Given the description of an element on the screen output the (x, y) to click on. 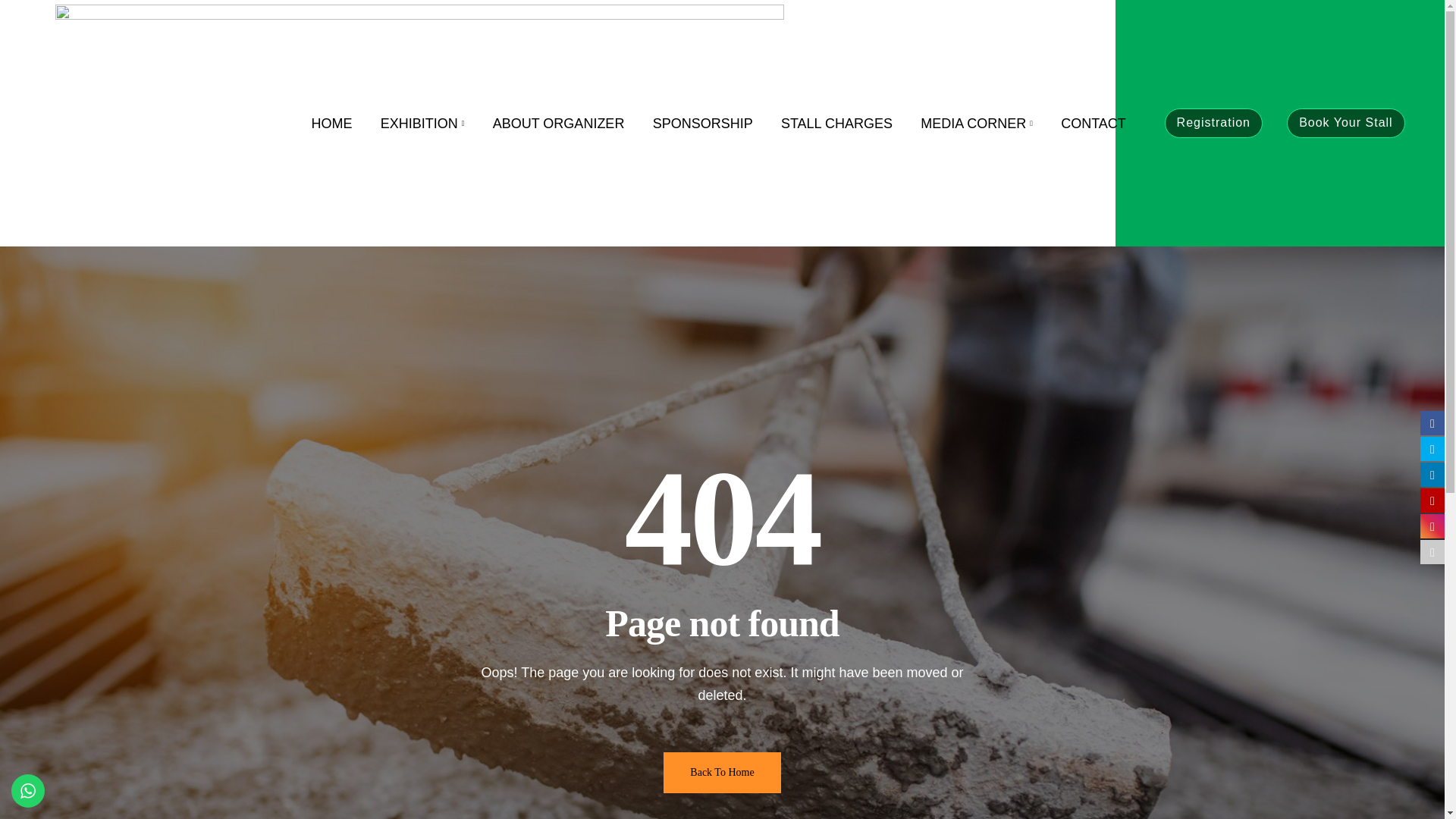
ABOUT ORGANIZER (559, 123)
STALL CHARGES (836, 123)
Registration (1213, 123)
Back To Home (721, 772)
HOME (331, 123)
EXHIBITION (422, 123)
SPONSORSHIP (703, 123)
WhatsApp us (28, 790)
CONTACT (1093, 123)
MEDIA CORNER (976, 123)
